Given the description of an element on the screen output the (x, y) to click on. 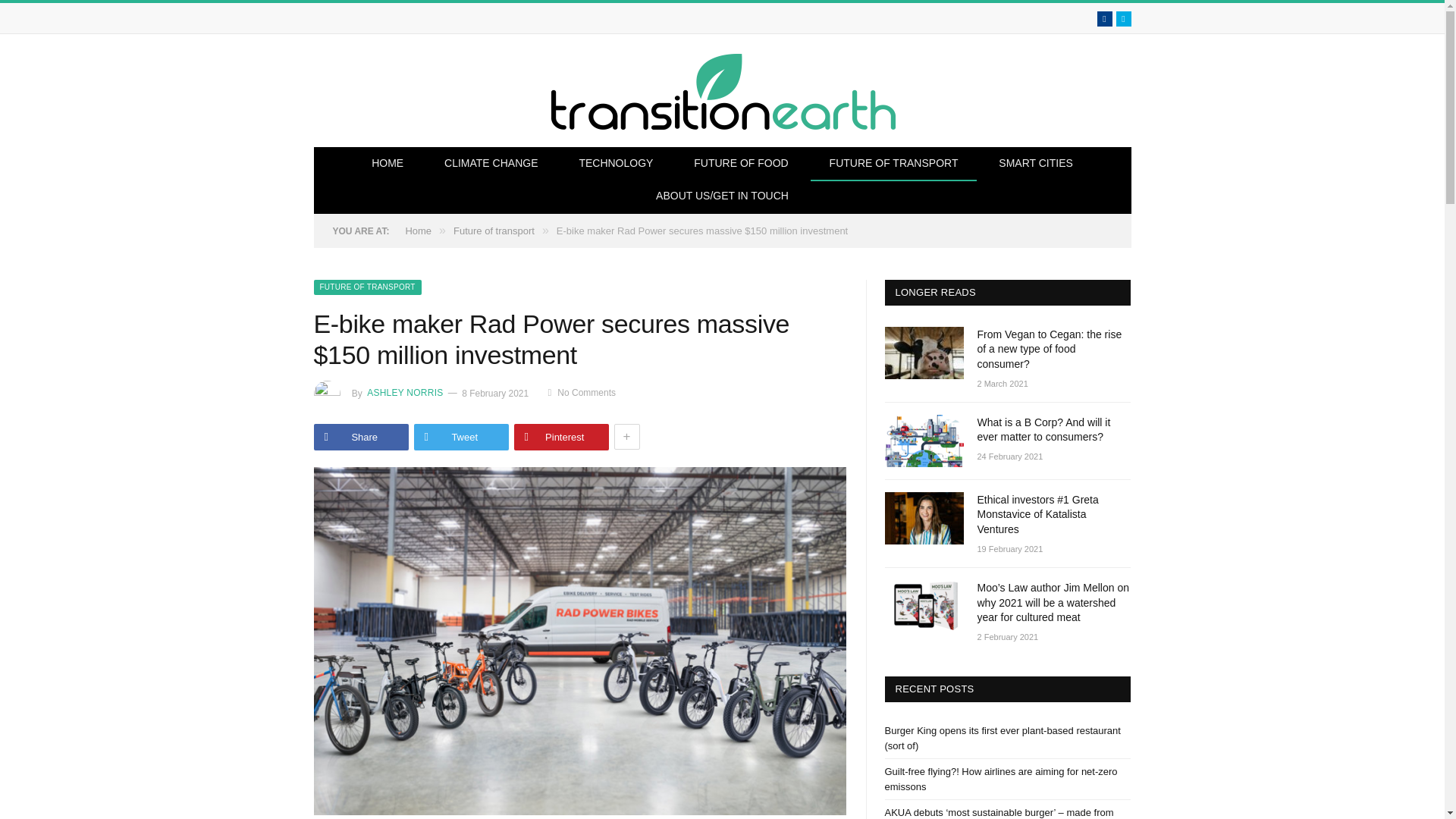
TECHNOLOGY (615, 163)
Future of transport (367, 286)
Posts by Ashley Norris (403, 392)
Twitter (1123, 18)
Future of transport (493, 230)
Home (417, 230)
Pinterest (560, 437)
Facebook (1104, 18)
SMART CITIES (1035, 163)
HOME (387, 163)
CLIMATE CHANGE (490, 163)
Share (361, 437)
Twitter (1123, 18)
No Comments (581, 392)
FUTURE OF TRANSPORT (893, 163)
